Given the description of an element on the screen output the (x, y) to click on. 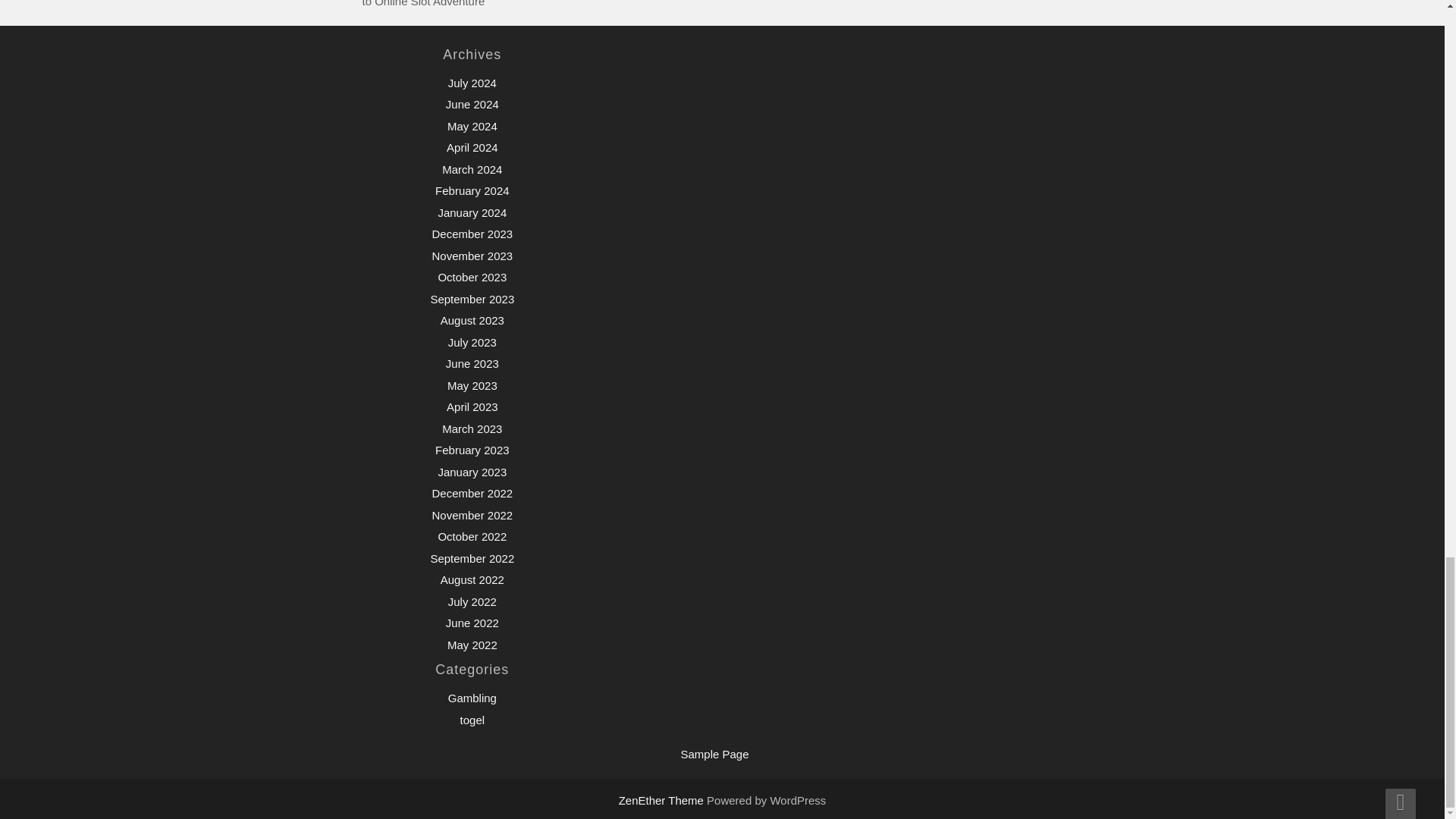
April 2023 (471, 406)
June 2024 (472, 103)
November 2022 (471, 514)
June 2023 (472, 363)
February 2024 (472, 190)
December 2022 (471, 492)
January 2024 (472, 212)
April 2024 (471, 146)
March 2024 (472, 169)
May 2024 (471, 125)
December 2023 (471, 233)
January 2023 (472, 472)
July 2024 (472, 82)
March 2023 (472, 428)
